Given the description of an element on the screen output the (x, y) to click on. 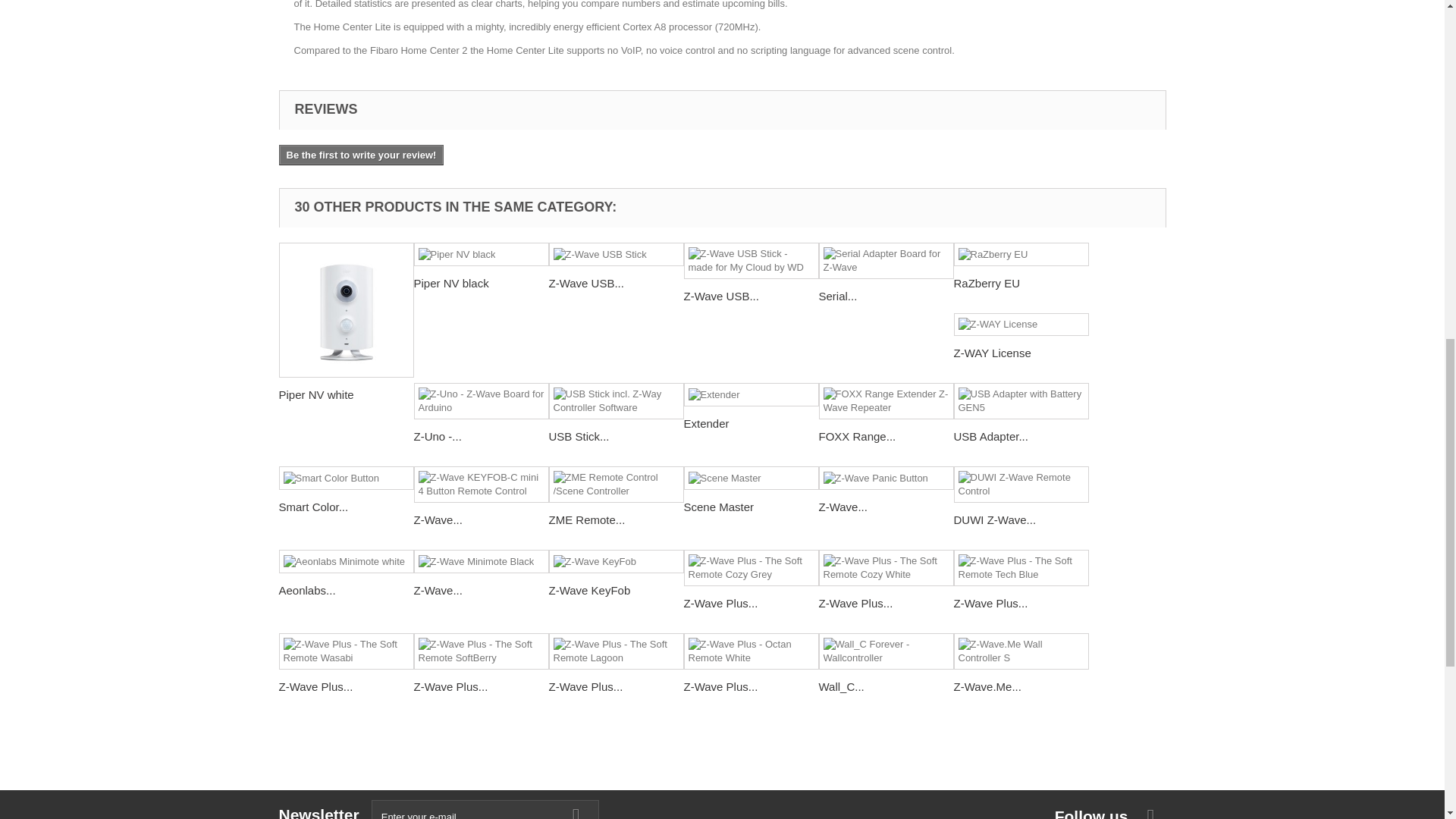
Enter your e-mail (484, 809)
